Given the description of an element on the screen output the (x, y) to click on. 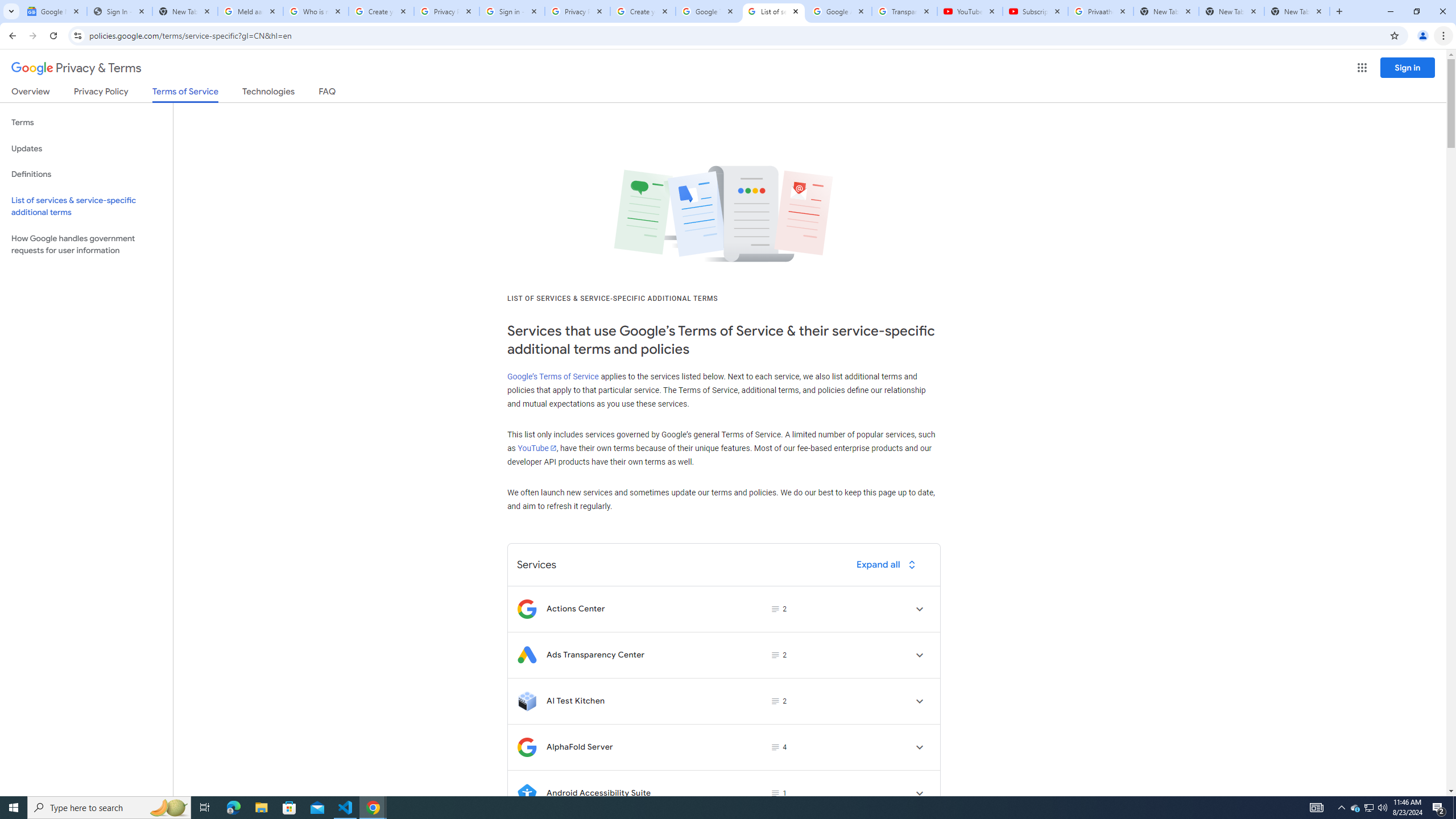
Who is my administrator? - Google Account Help (315, 11)
Google Account (838, 11)
Logo for Actions Center (526, 608)
How Google handles government requests for user information (86, 244)
